Given the description of an element on the screen output the (x, y) to click on. 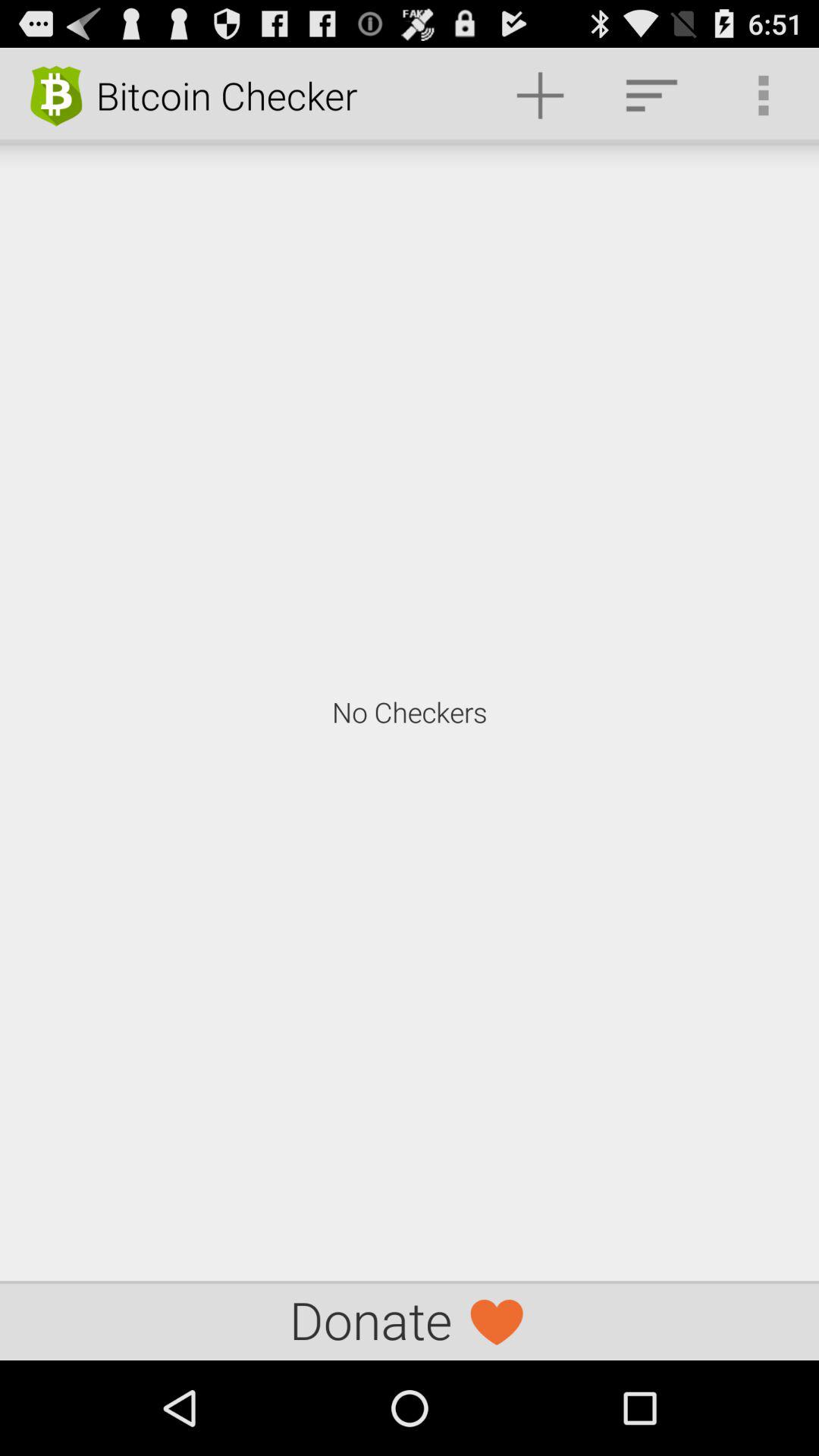
turn on icon above the no checkers item (651, 95)
